Given the description of an element on the screen output the (x, y) to click on. 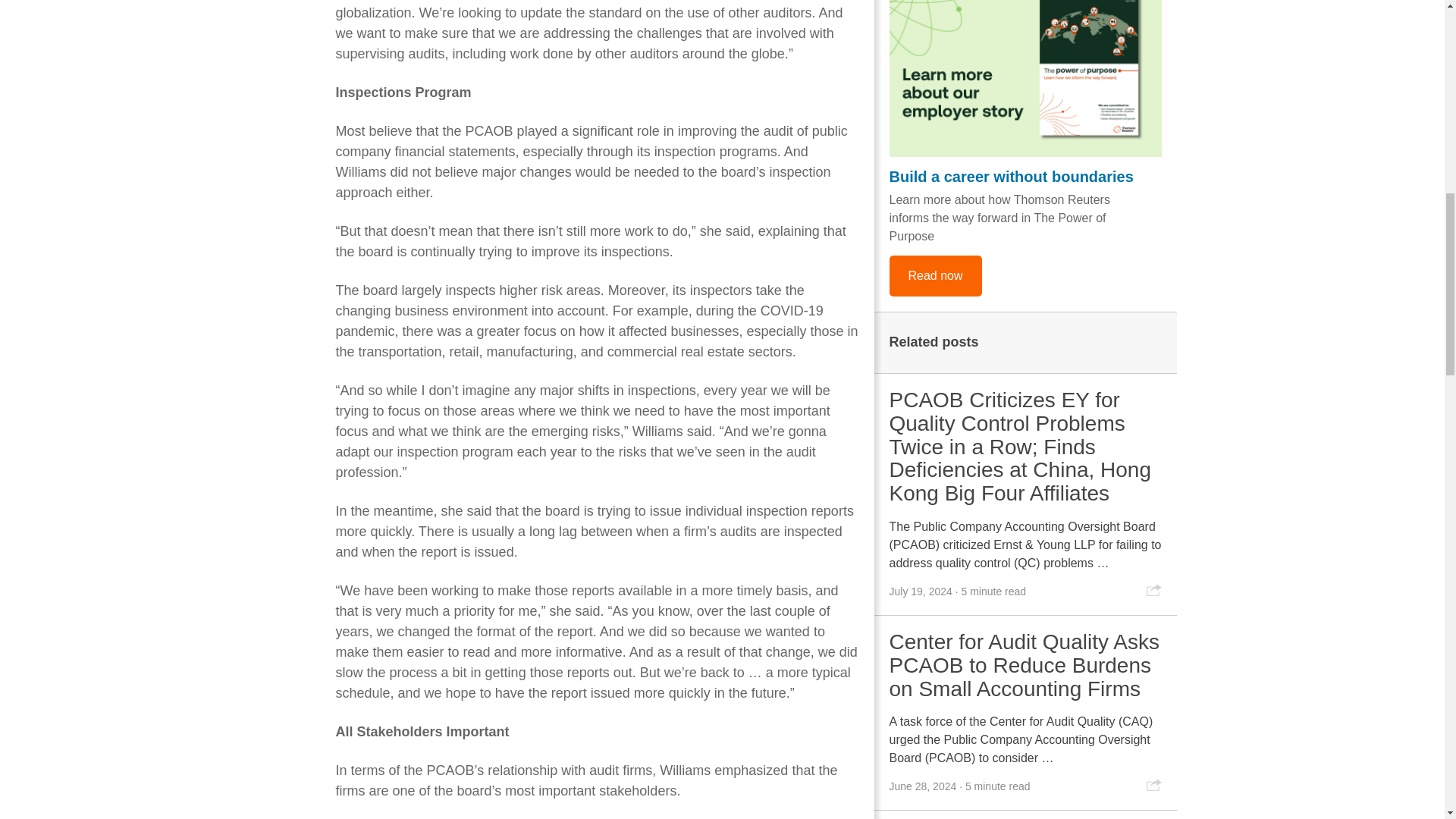
At July 19, 2024 (920, 591)
Banner Ad - TR Careers (1024, 78)
